Given the description of an element on the screen output the (x, y) to click on. 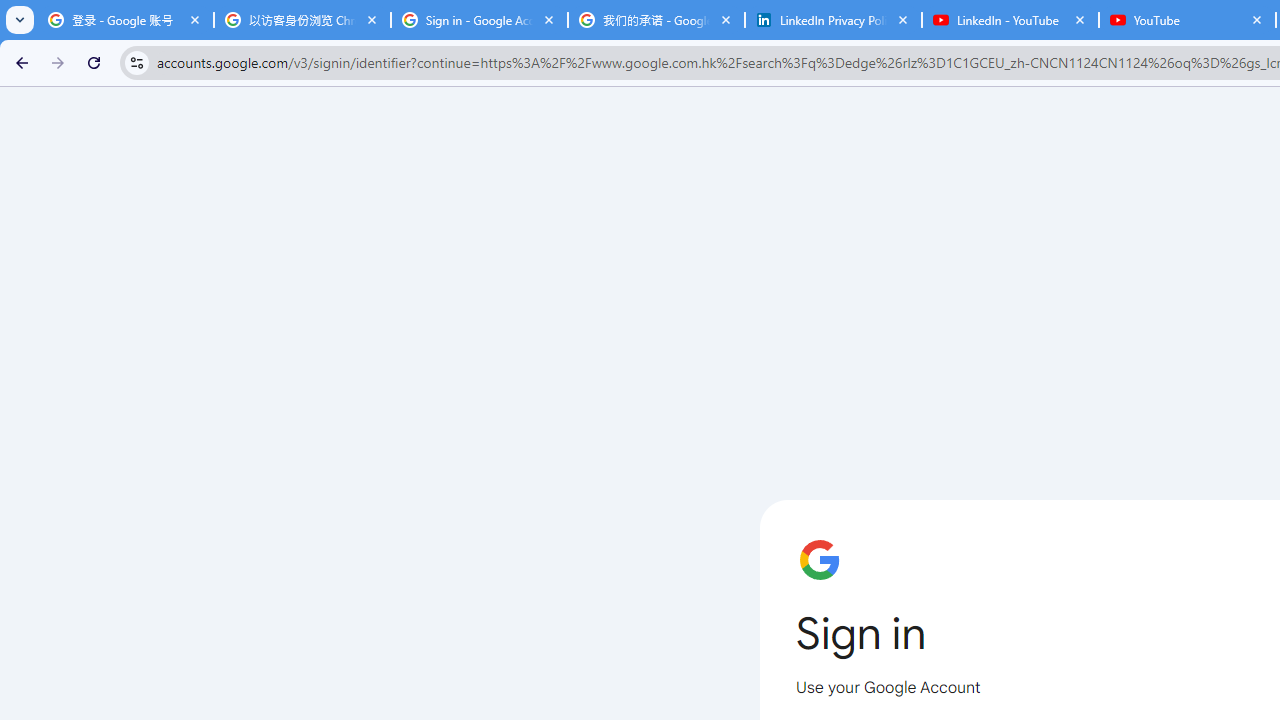
LinkedIn Privacy Policy (833, 20)
LinkedIn - YouTube (1010, 20)
Sign in - Google Accounts (479, 20)
